Given the description of an element on the screen output the (x, y) to click on. 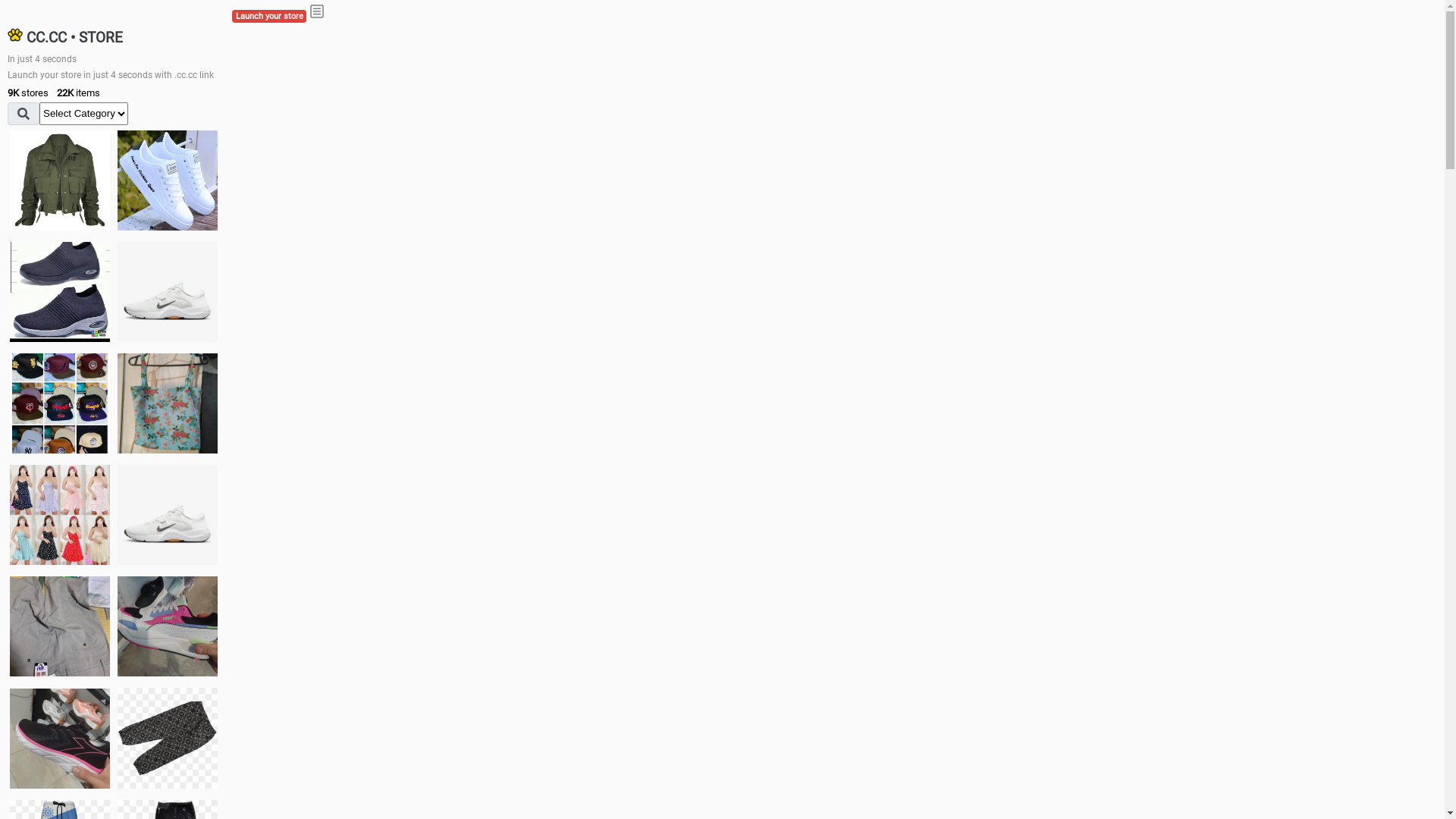
Things we need Element type: hover (59, 403)
Shoes for boys Element type: hover (167, 291)
white shoes Element type: hover (167, 180)
Dress/square nect top Element type: hover (59, 514)
Ukay cloth Element type: hover (167, 403)
jacket Element type: hover (59, 180)
Zapatillas pumas Element type: hover (167, 626)
Launch your store Element type: text (269, 15)
shoes for boys Element type: hover (59, 291)
Shoes Element type: hover (167, 514)
Zapatillas Element type: hover (59, 738)
Short pant Element type: hover (167, 737)
